Given the description of an element on the screen output the (x, y) to click on. 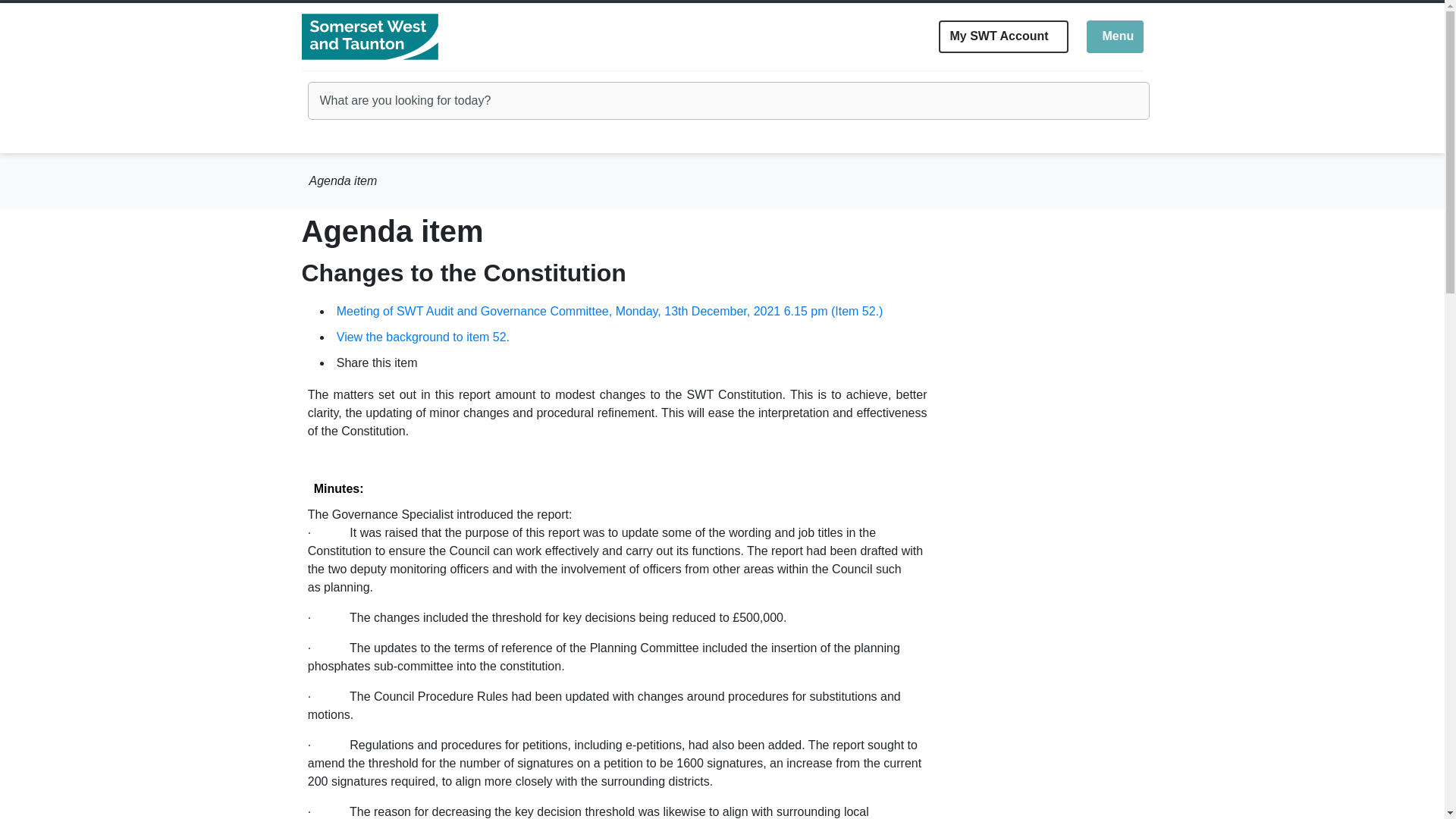
Click to share this item (1114, 36)
Link to issue details for item 52. (431, 364)
Link to meeting containing this item (422, 336)
View the background to item 52. (609, 310)
My SWT Account (422, 336)
